Given the description of an element on the screen output the (x, y) to click on. 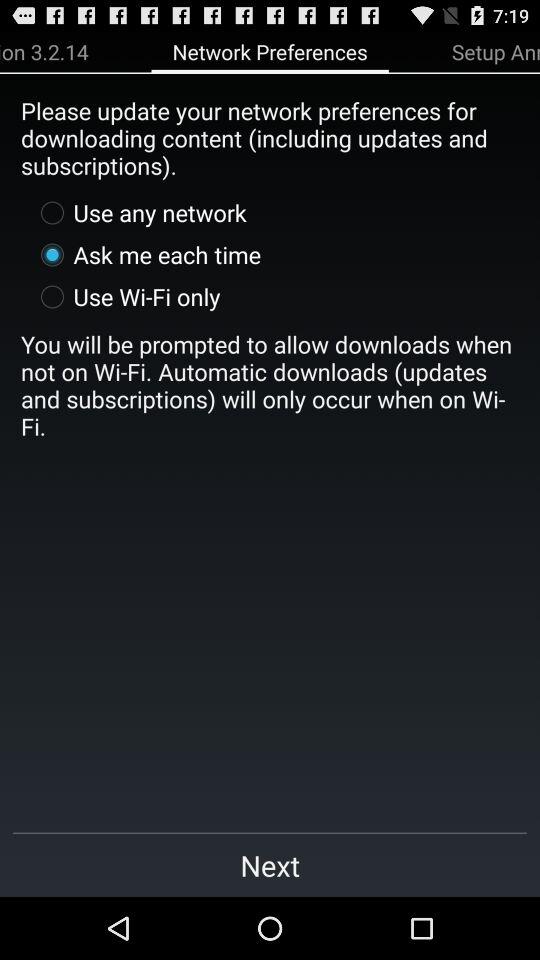
tap icon to the left of network preferences icon (44, 51)
